Given the description of an element on the screen output the (x, y) to click on. 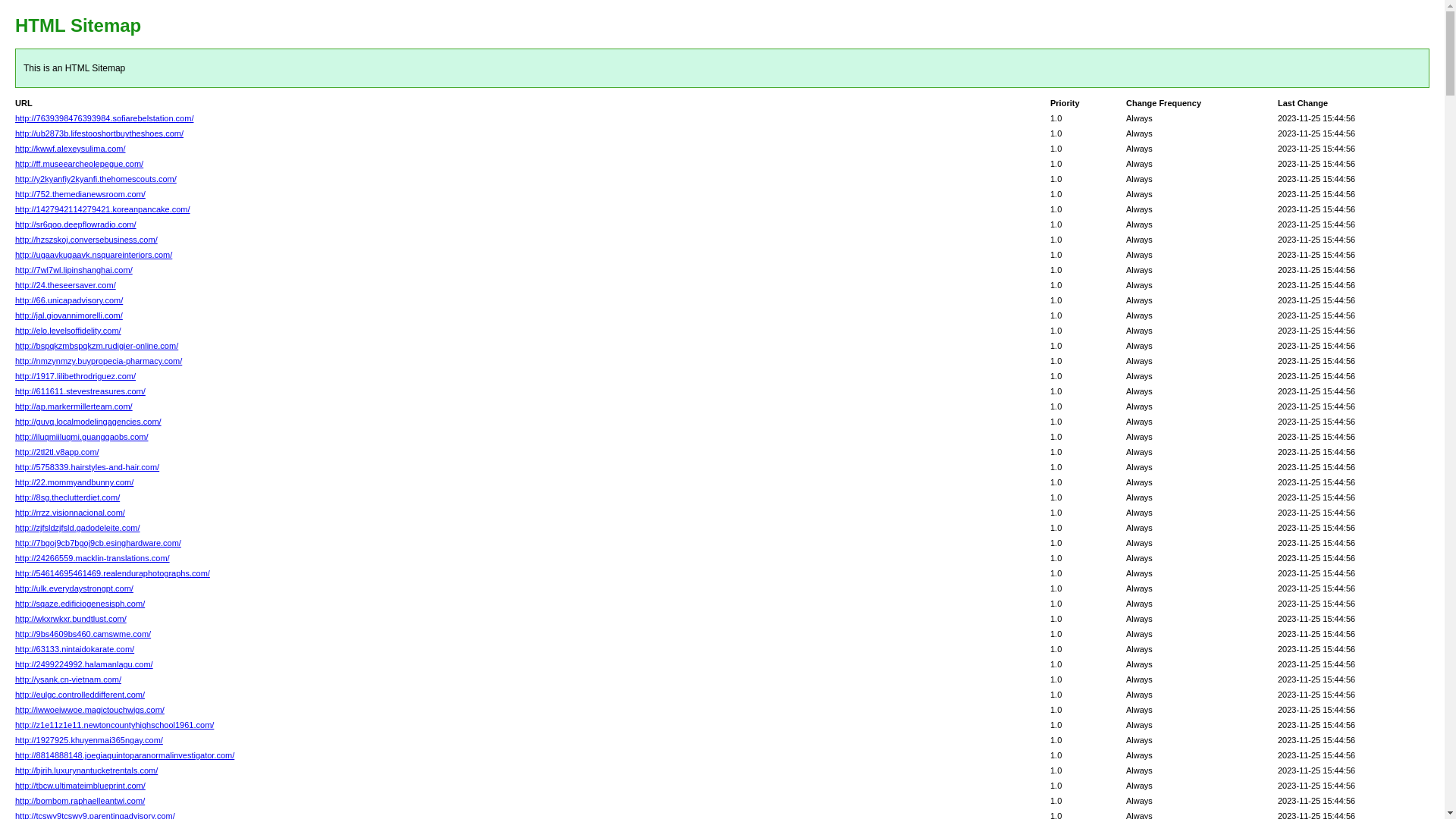
http://1427942114279421.koreanpancake.com/ Element type: text (102, 208)
http://iluqmiiluqmi.guanggaobs.com/ Element type: text (81, 436)
http://24266559.macklin-translations.com/ Element type: text (92, 557)
http://1927925.khuyenmai365ngay.com/ Element type: text (89, 739)
http://zjfsldzjfsld.gadodeleite.com/ Element type: text (77, 527)
http://jal.giovannimorelli.com/ Element type: text (68, 315)
http://kwwf.alexeysulima.com/ Element type: text (70, 148)
http://ulk.everydaystrongpt.com/ Element type: text (74, 588)
http://611611.stevestreasures.com/ Element type: text (80, 390)
http://bombom.raphaelleantwi.com/ Element type: text (79, 800)
http://ub2873b.lifestooshortbuytheshoes.com/ Element type: text (99, 133)
http://22.mommyandbunny.com/ Element type: text (74, 481)
http://ugaavkugaavk.nsquareinteriors.com/ Element type: text (93, 254)
http://wkxrwkxr.bundtlust.com/ Element type: text (70, 618)
http://24.theseersaver.com/ Element type: text (65, 284)
http://8sg.theclutterdiet.com/ Element type: text (67, 497)
http://sr6qoo.deepflowradio.com/ Element type: text (75, 224)
http://1917.lilibethrodriguez.com/ Element type: text (75, 375)
http://8814888148.joegiaquintoparanormalinvestigator.com/ Element type: text (124, 754)
http://bspqkzmbspqkzm.rudigier-online.com/ Element type: text (96, 345)
http://hzszskoj.conversebusiness.com/ Element type: text (86, 239)
http://y2kyanfiy2kyanfi.thehomescouts.com/ Element type: text (95, 178)
http://63133.nintaidokarate.com/ Element type: text (74, 648)
http://66.unicapadvisory.com/ Element type: text (68, 299)
http://7wl7wl.lipinshanghai.com/ Element type: text (73, 269)
http://eulgc.controlleddifferent.com/ Element type: text (79, 694)
http://z1e11z1e11.newtoncountyhighschool1961.com/ Element type: text (114, 724)
http://2499224992.halamanlagu.com/ Element type: text (84, 663)
http://54614695461469.realenduraphotographs.com/ Element type: text (112, 572)
http://7bgoj9cb7bgoj9cb.esinghardware.com/ Element type: text (98, 542)
http://ap.markermillerteam.com/ Element type: text (73, 406)
http://tbcw.ultimateimblueprint.com/ Element type: text (80, 785)
http://ff.museearcheolepegue.com/ Element type: text (79, 163)
http://iwwoeiwwoe.magictouchwigs.com/ Element type: text (89, 709)
http://bjrih.luxurynantucketrentals.com/ Element type: text (86, 770)
http://elo.levelsoffidelity.com/ Element type: text (68, 330)
http://7639398476393984.sofiarebelstation.com/ Element type: text (104, 117)
http://guvq.localmodelingagencies.com/ Element type: text (88, 421)
http://nmzynmzy.buypropecia-pharmacy.com/ Element type: text (98, 360)
http://5758339.hairstyles-and-hair.com/ Element type: text (87, 466)
http://rrzz.visionnacional.com/ Element type: text (70, 512)
http://sqaze.edificiogenesisph.com/ Element type: text (79, 603)
http://ysank.cn-vietnam.com/ Element type: text (68, 679)
http://2tl2tl.v8app.com/ Element type: text (57, 451)
http://9bs4609bs460.camswme.com/ Element type: text (82, 633)
http://752.themedianewsroom.com/ Element type: text (80, 193)
